Given the description of an element on the screen output the (x, y) to click on. 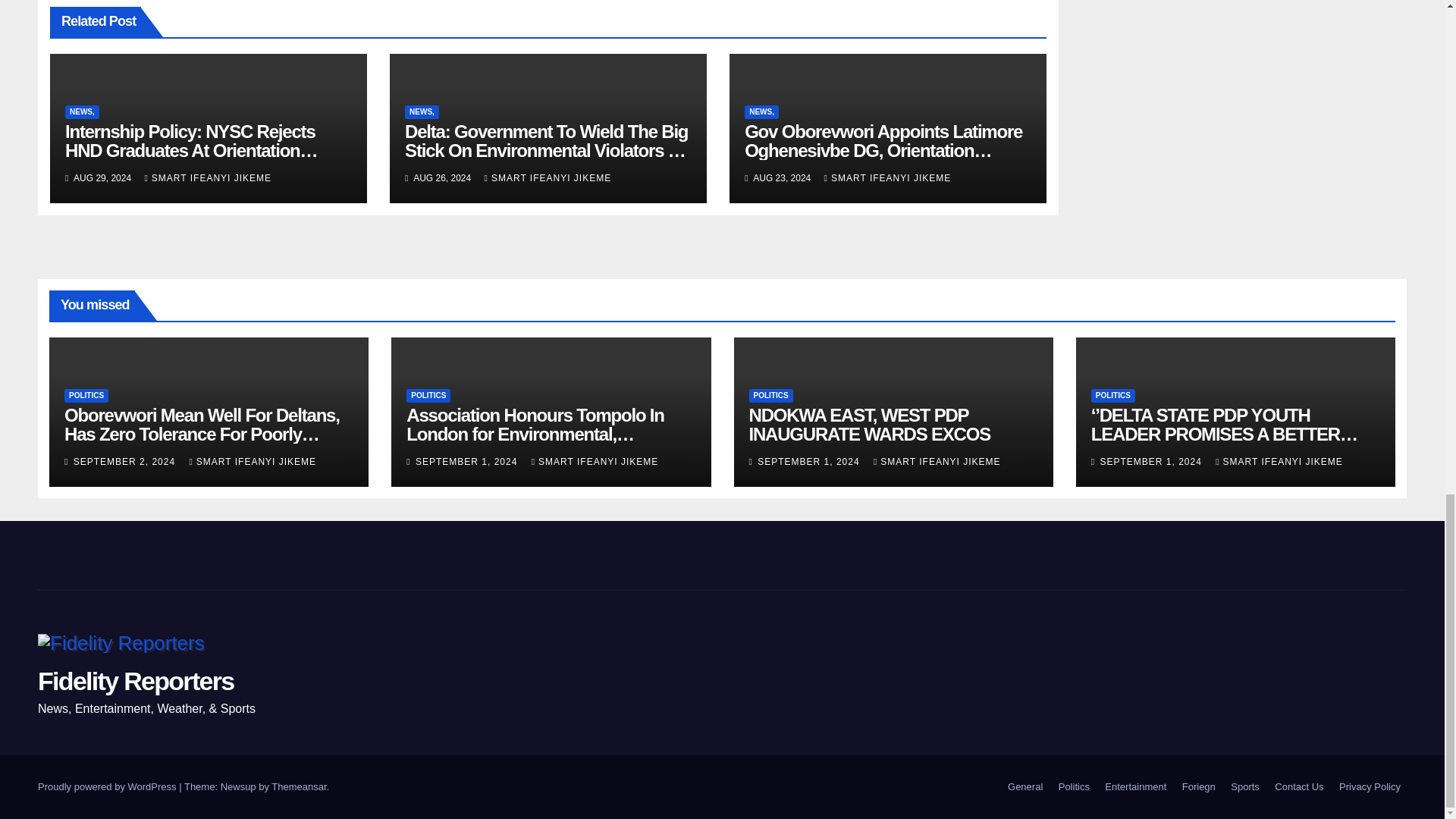
NEWS, (421, 111)
SMART IFEANYI JIKEME (888, 177)
POLITICS (85, 395)
NEWS, (82, 111)
NEWS, (761, 111)
SMART IFEANYI JIKEME (547, 177)
SMART IFEANYI JIKEME (207, 177)
